Given the description of an element on the screen output the (x, y) to click on. 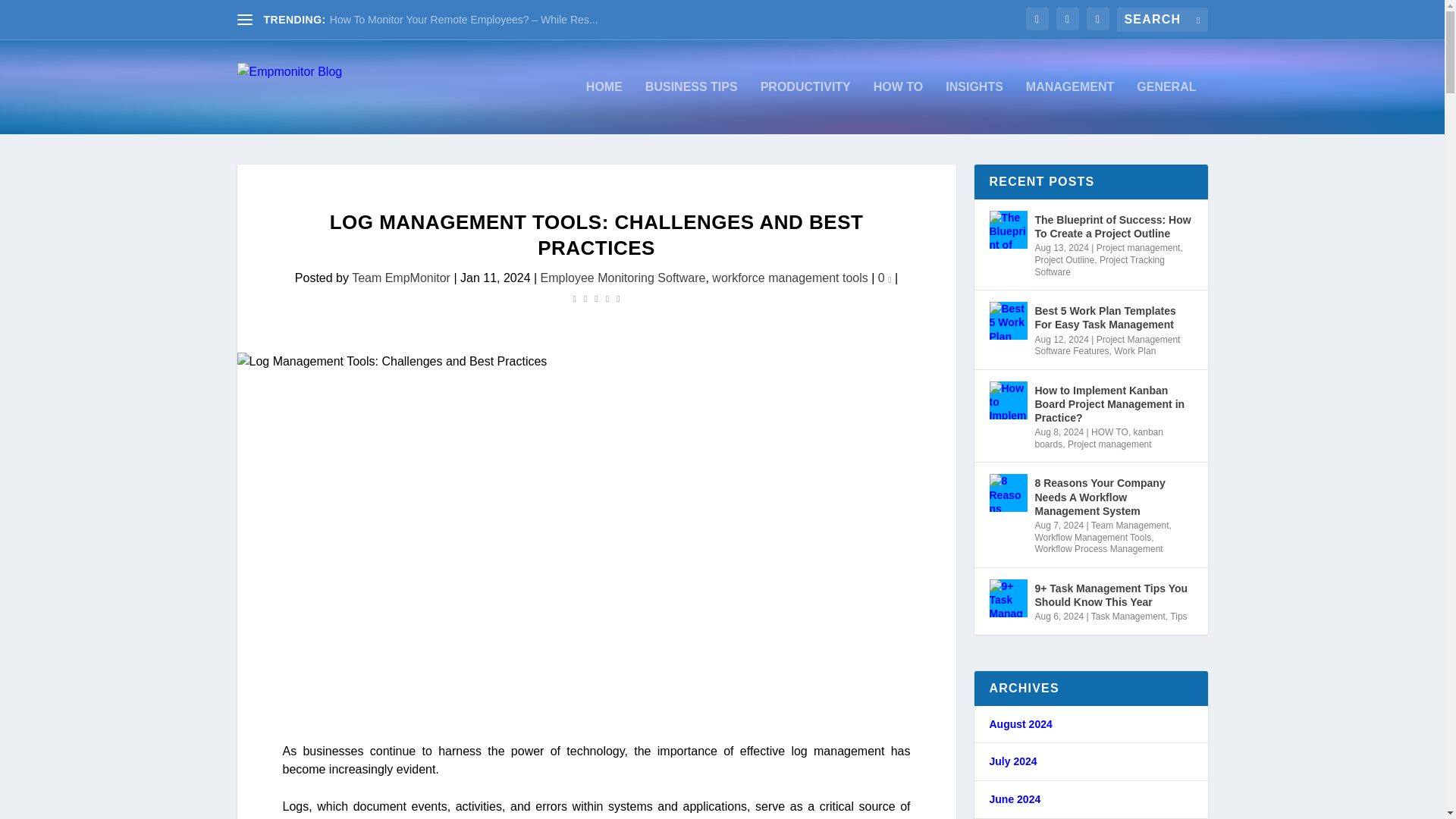
HOW TO (898, 107)
Employee Monitoring Software (623, 277)
0 (884, 277)
Search for: (1161, 19)
PRODUCTIVITY (805, 107)
INSIGHTS (973, 107)
BUSINESS TIPS (691, 107)
Team EmpMonitor (400, 277)
Rating: 0.00 (596, 297)
MANAGEMENT (1069, 107)
